Given the description of an element on the screen output the (x, y) to click on. 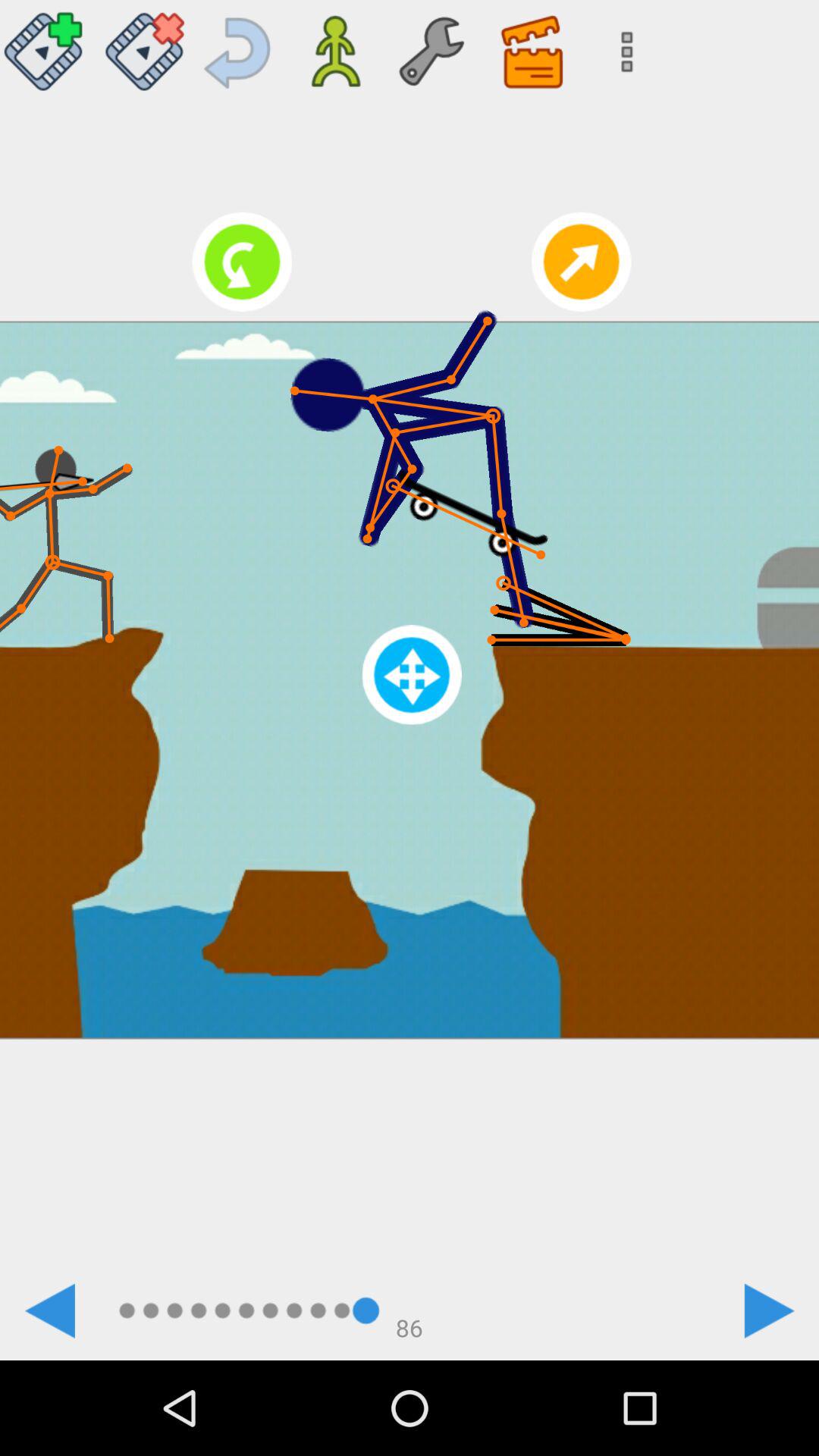
delete video (144, 45)
